Given the description of an element on the screen output the (x, y) to click on. 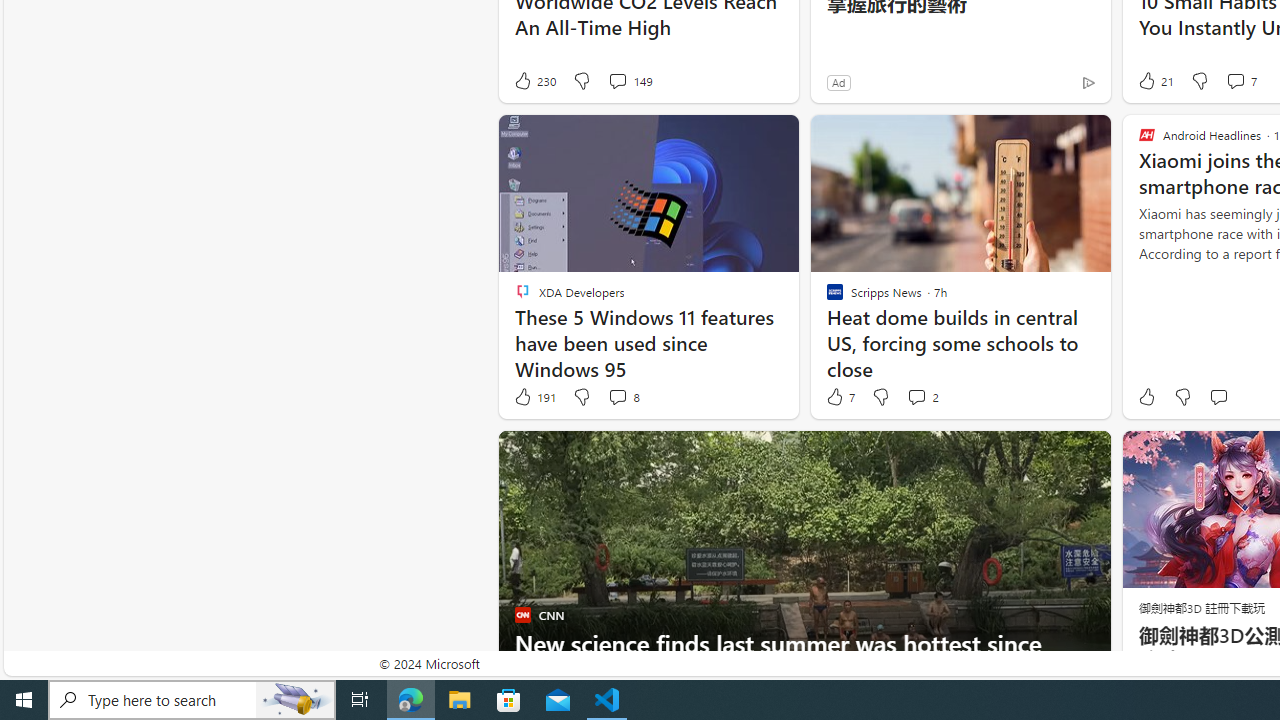
View comments 7 Comment (1240, 80)
View comments 2 Comment (922, 397)
View comments 8 Comment (617, 396)
7 Like (839, 397)
View comments 7 Comment (1234, 80)
View comments 149 Comment (629, 80)
Like (1145, 397)
21 Like (1154, 80)
Hide this story (1050, 454)
View comments 2 Comment (916, 396)
View comments 8 Comment (623, 397)
230 Like (534, 80)
191 Like (534, 397)
